Given the description of an element on the screen output the (x, y) to click on. 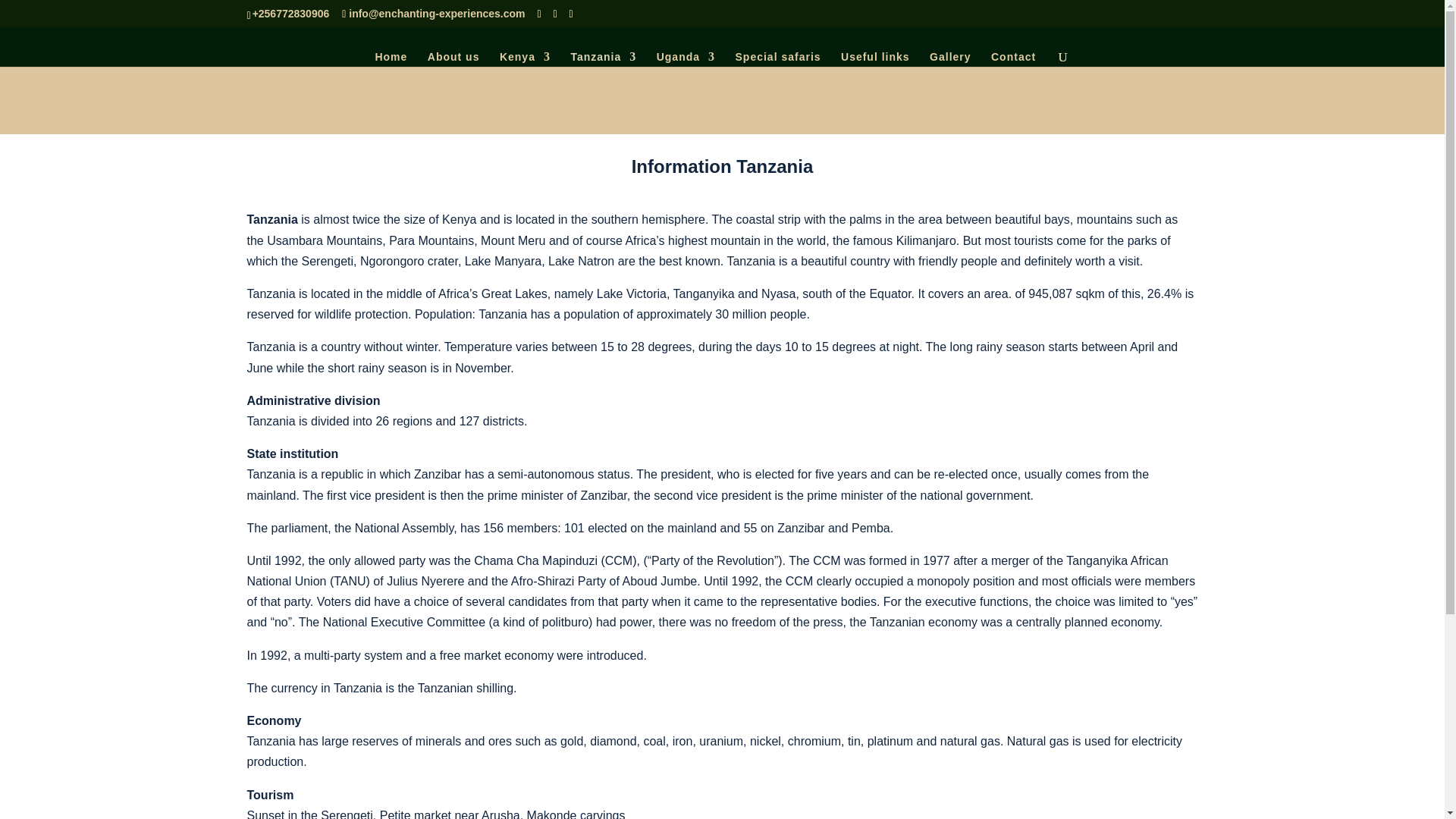
Home (390, 58)
About us (454, 58)
Tanzania (603, 58)
Kenya (524, 58)
Uganda (685, 58)
